Given the description of an element on the screen output the (x, y) to click on. 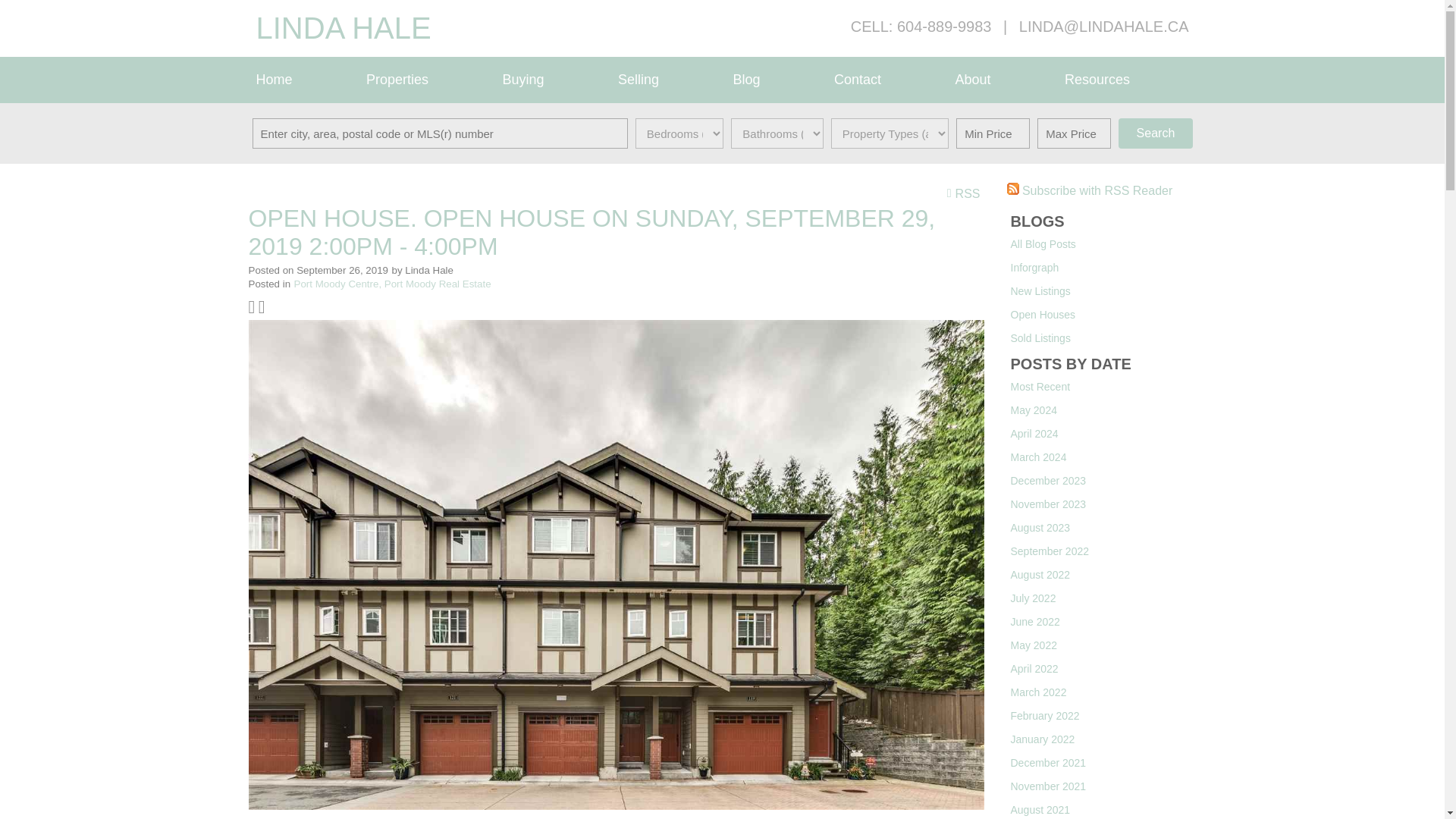
November 2023 (1048, 503)
August 2023 (1040, 527)
Most Recent (1040, 386)
About (1002, 79)
Resources (1126, 79)
Properties (426, 79)
Blog (775, 79)
September 2022 (1049, 551)
March 2024 (1037, 457)
Selling (667, 79)
Search (1155, 132)
Subscribe with RSS Reader (1090, 190)
Home (303, 79)
Open Houses (1042, 314)
New Listings (1040, 291)
